Given the description of an element on the screen output the (x, y) to click on. 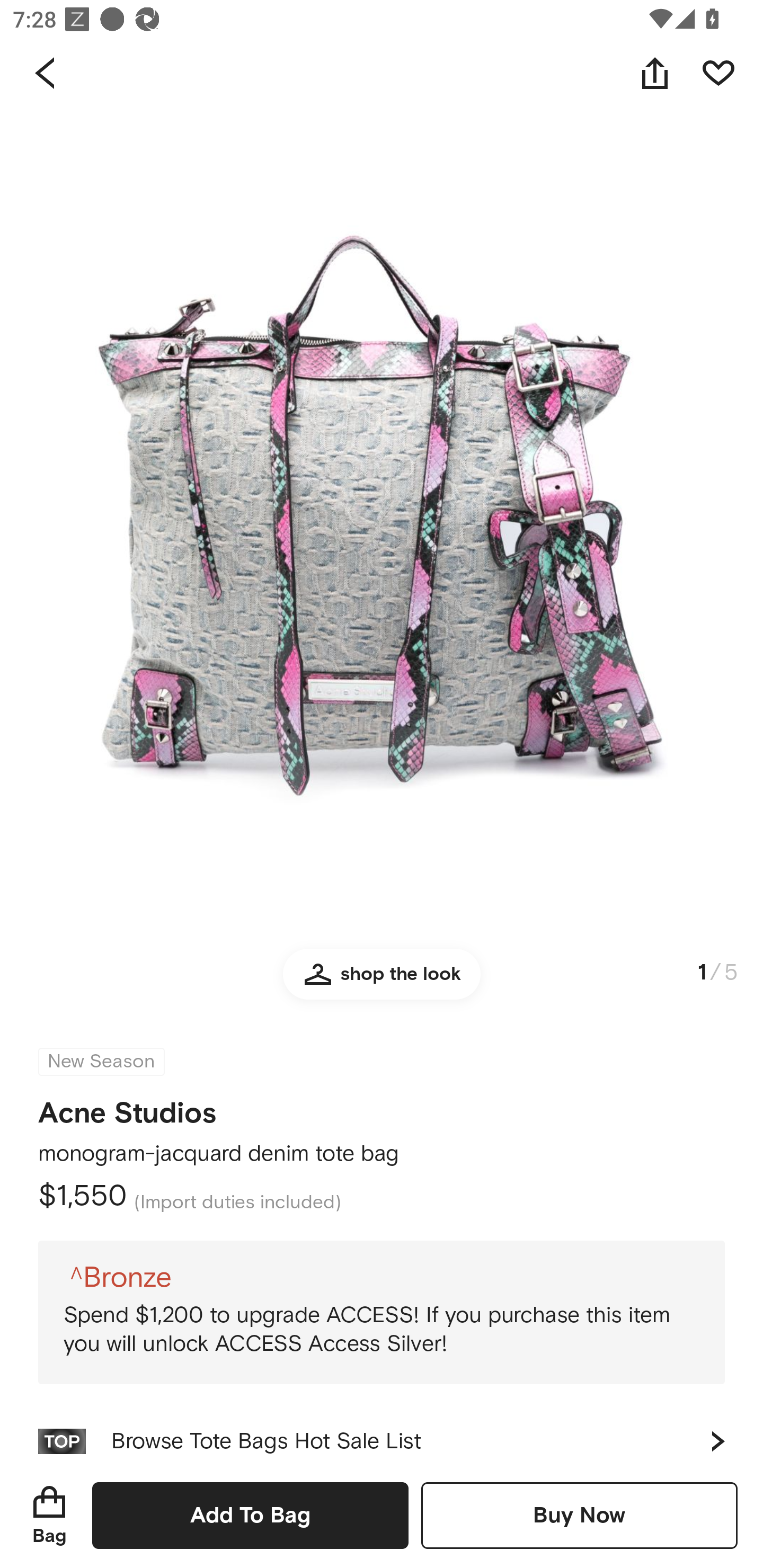
shop the look (381, 982)
Acne Studios (126, 1107)
Browse Tote Bags Hot Sale List (381, 1432)
Bag (49, 1515)
Add To Bag (250, 1515)
Buy Now (579, 1515)
